Given the description of an element on the screen output the (x, y) to click on. 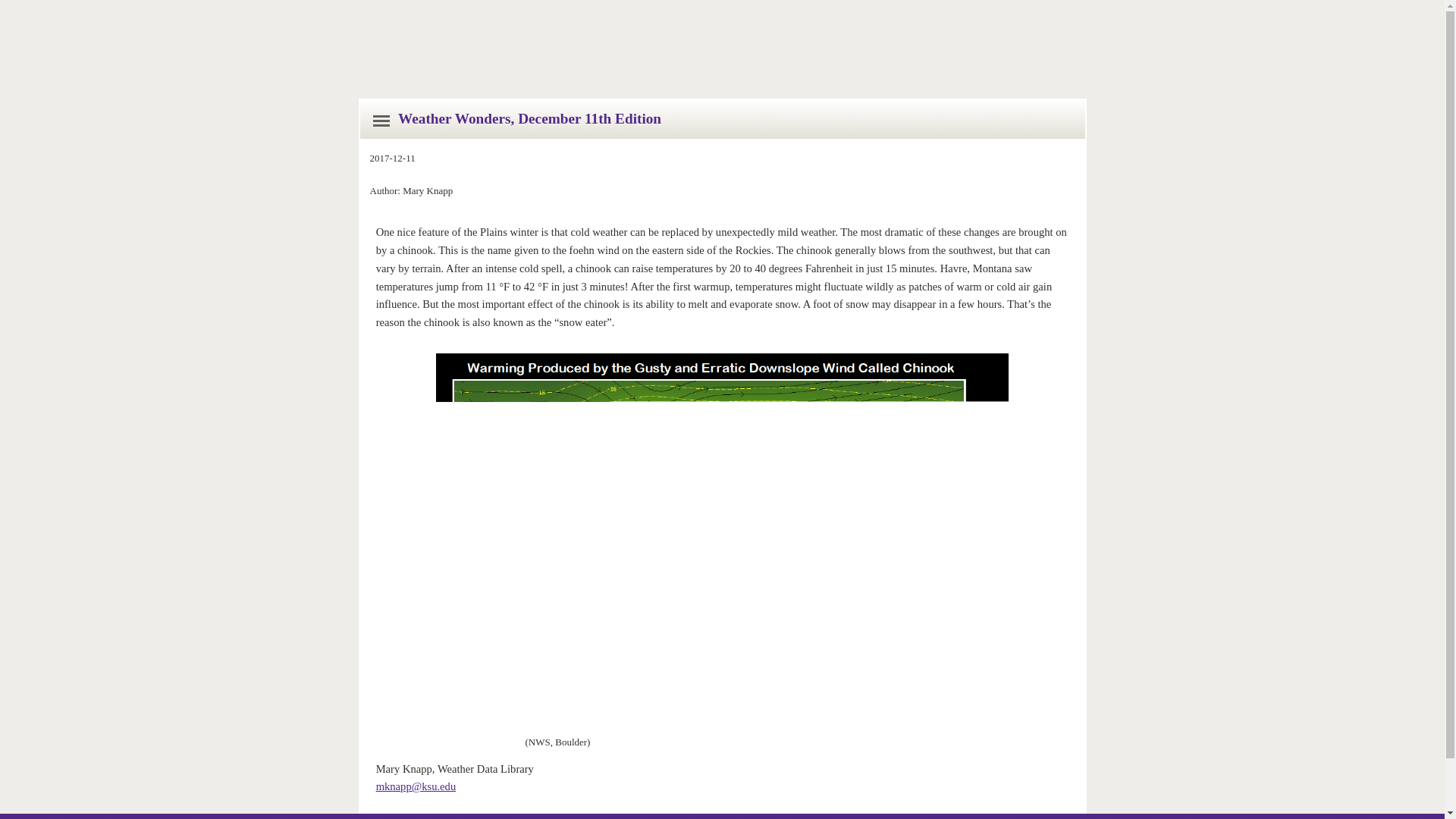
menu (381, 120)
